Given the description of an element on the screen output the (x, y) to click on. 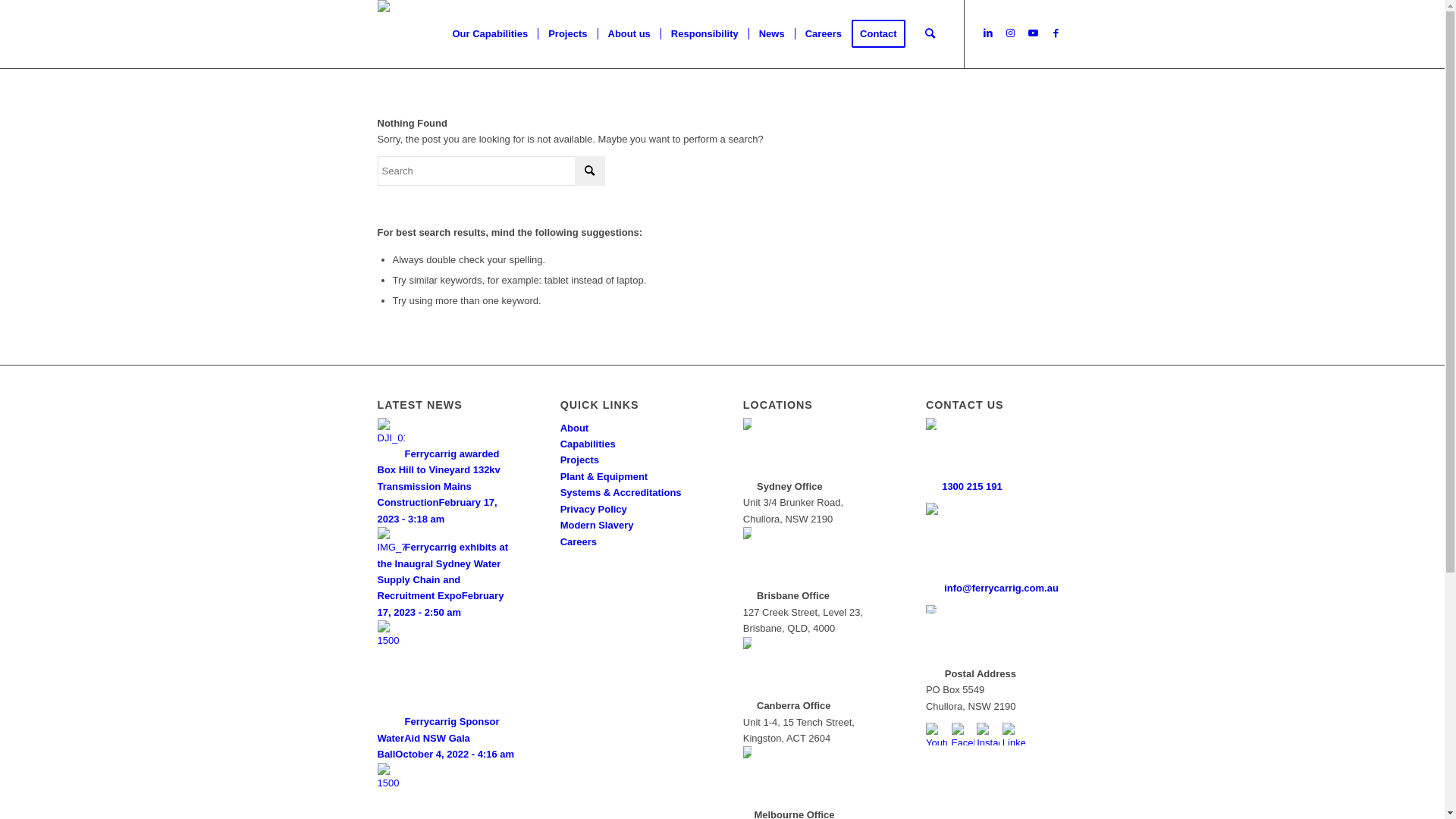
Projects Element type: text (566, 34)
Plant & Equipment Element type: text (604, 476)
LinkedIn Element type: hover (987, 32)
About us Element type: text (628, 34)
About Element type: text (574, 427)
Careers Element type: text (822, 34)
Responsibility Element type: text (704, 34)
Privacy Policy Element type: text (593, 508)
Modern Slavery Element type: text (596, 524)
Contact Element type: text (882, 34)
Instagram Element type: hover (1010, 32)
Facebook Element type: hover (1055, 32)
Youtube Element type: hover (1033, 32)
info@ferrycarrig.com.au Element type: text (1001, 587)
1300 215 191 Element type: text (971, 486)
Our Capabilities Element type: text (490, 34)
News Element type: text (771, 34)
Systems & Accreditations  Element type: text (622, 492)
Careers Element type: text (578, 541)
Projects  Element type: text (581, 459)
Capabilities Element type: text (587, 443)
